Given the description of an element on the screen output the (x, y) to click on. 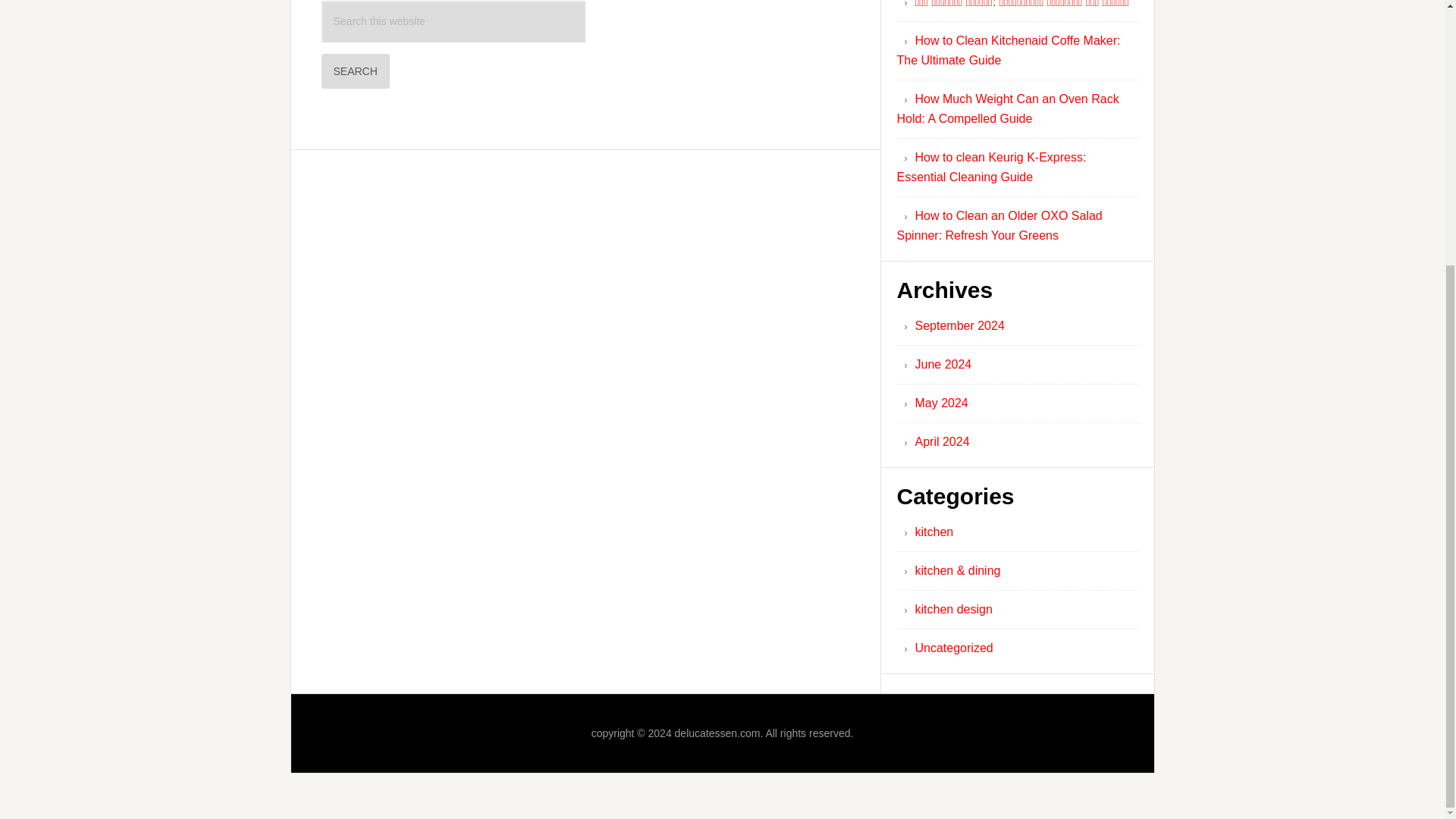
May 2024 (941, 402)
kitchen (933, 531)
How Much Weight Can an Oven Rack Hold: A Compelled Guide (1007, 108)
Search (355, 71)
kitchen design (952, 608)
September 2024 (959, 325)
How to Clean an Older OXO Salad Spinner: Refresh Your Greens (999, 225)
Uncategorized (953, 647)
Search (355, 71)
April 2024 (941, 440)
